Given the description of an element on the screen output the (x, y) to click on. 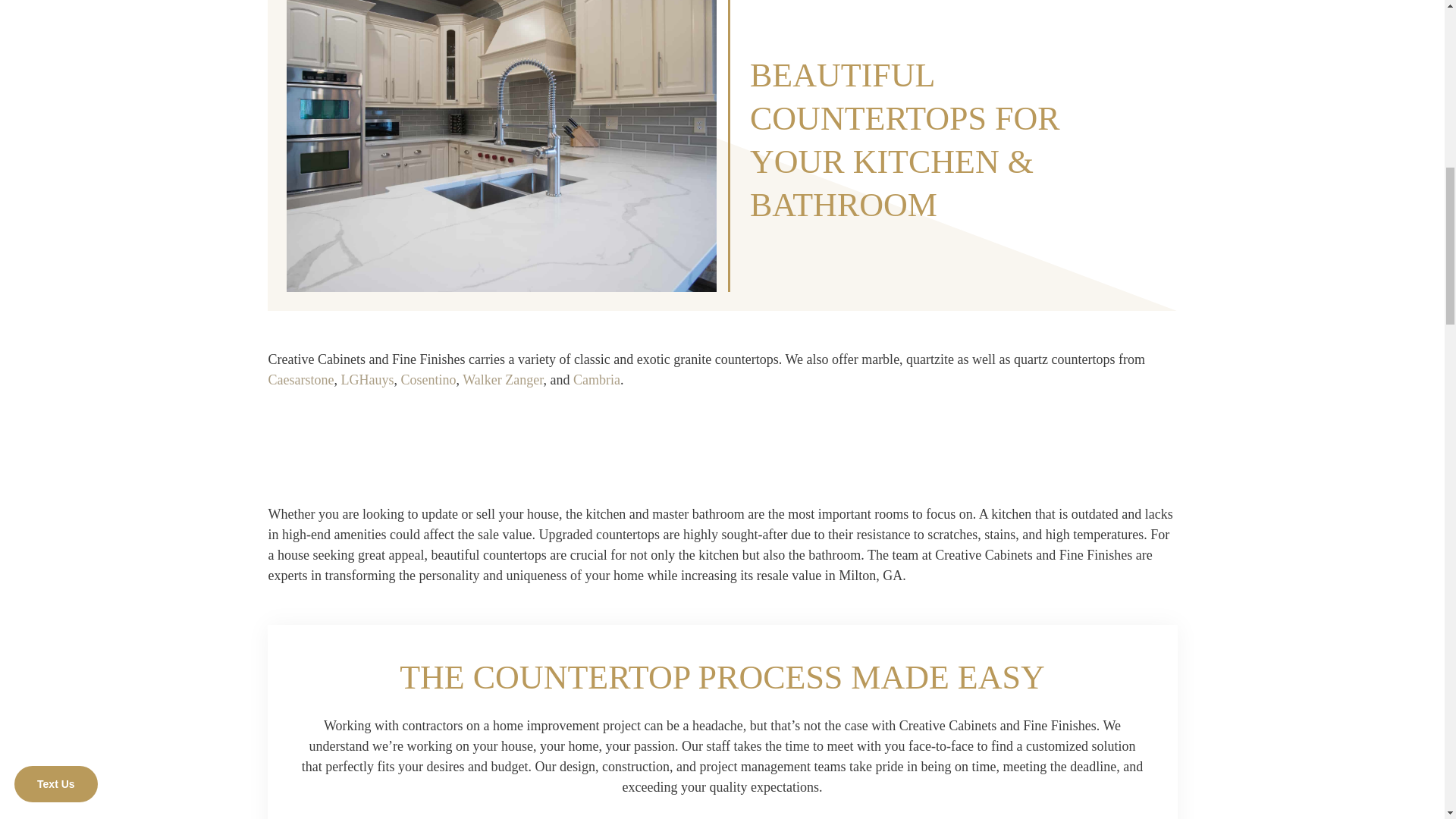
Cambria (596, 379)
LGHauys (366, 379)
Walker Zanger (503, 379)
Caesarstone (300, 379)
Cosentino (427, 379)
